Given the description of an element on the screen output the (x, y) to click on. 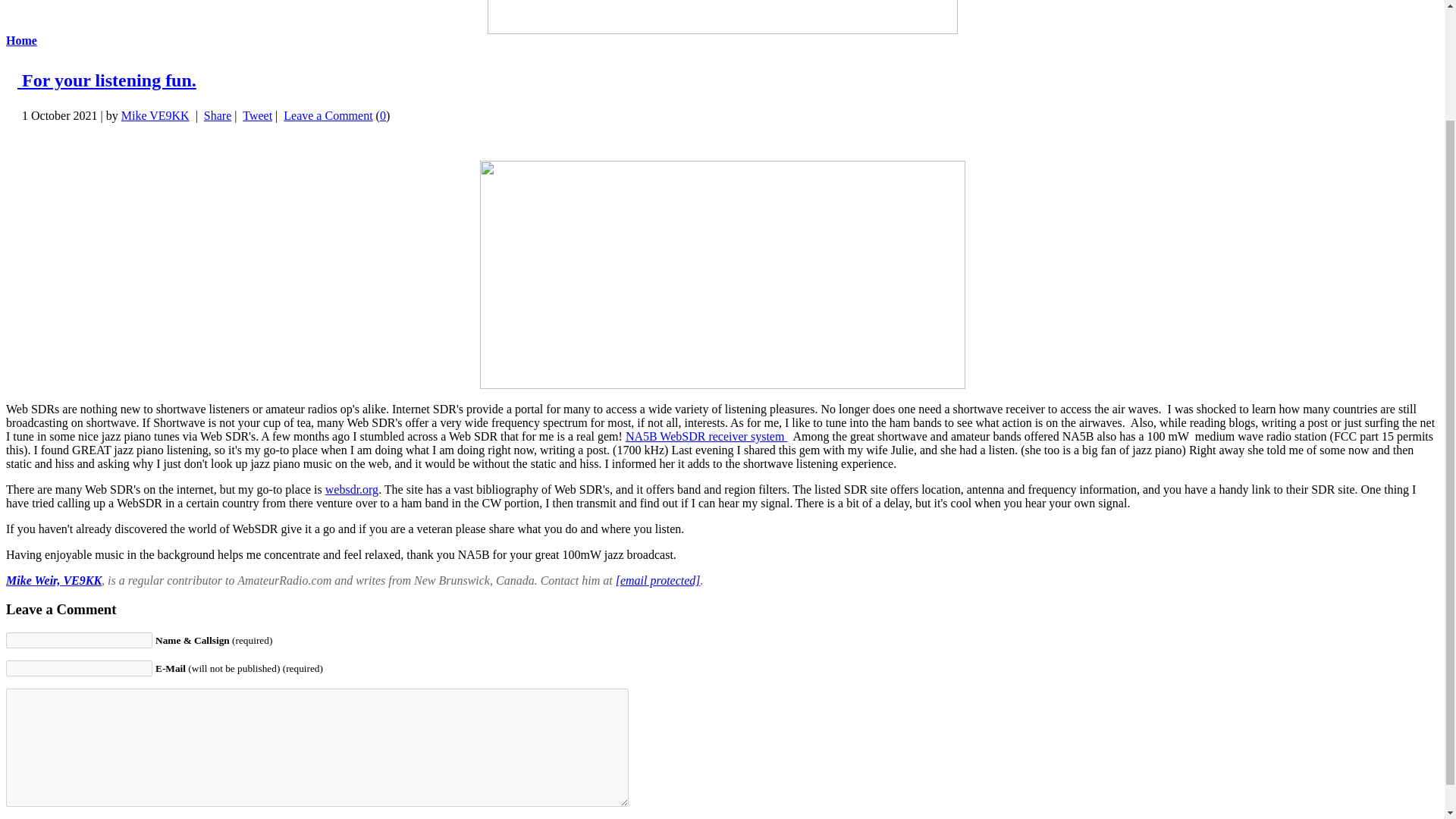
Mike VE9KK (154, 115)
websdr.org (351, 489)
NA5B WebSDR receiver system  (706, 436)
Mike Weir, VE9KK (53, 580)
Leave a Comment (327, 115)
For your listening fun. (106, 80)
For your listening fun. (106, 80)
Home (21, 40)
Tweet (257, 115)
Share (217, 115)
